Given the description of an element on the screen output the (x, y) to click on. 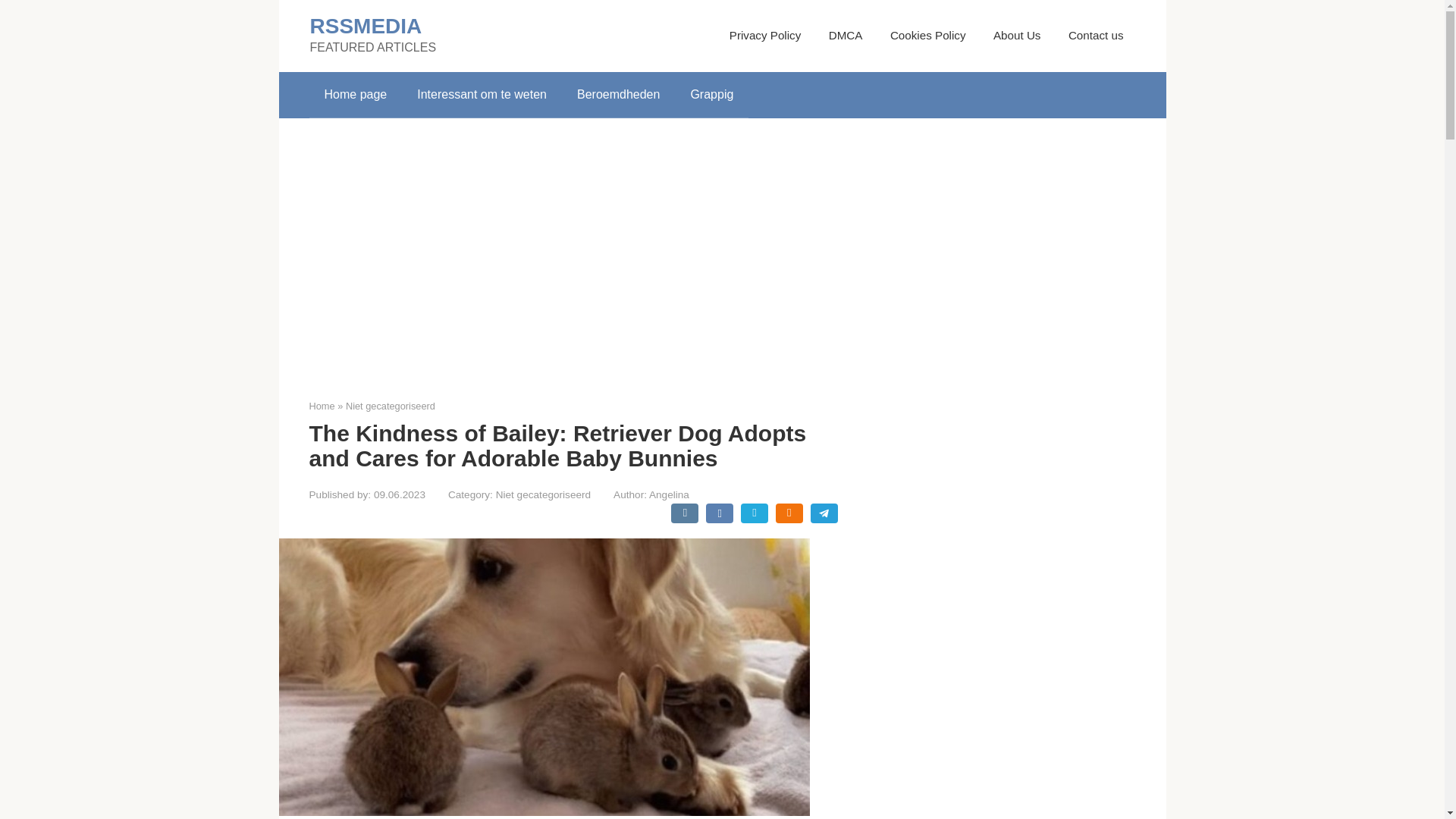
Beroemdheden (618, 94)
RSSMEDIA (365, 25)
DMCA (845, 35)
Interessant om te weten (481, 94)
Home (321, 405)
Grappig (711, 94)
About Us (1016, 35)
Home page (355, 94)
Niet gecategoriseerd (543, 494)
